Given the description of an element on the screen output the (x, y) to click on. 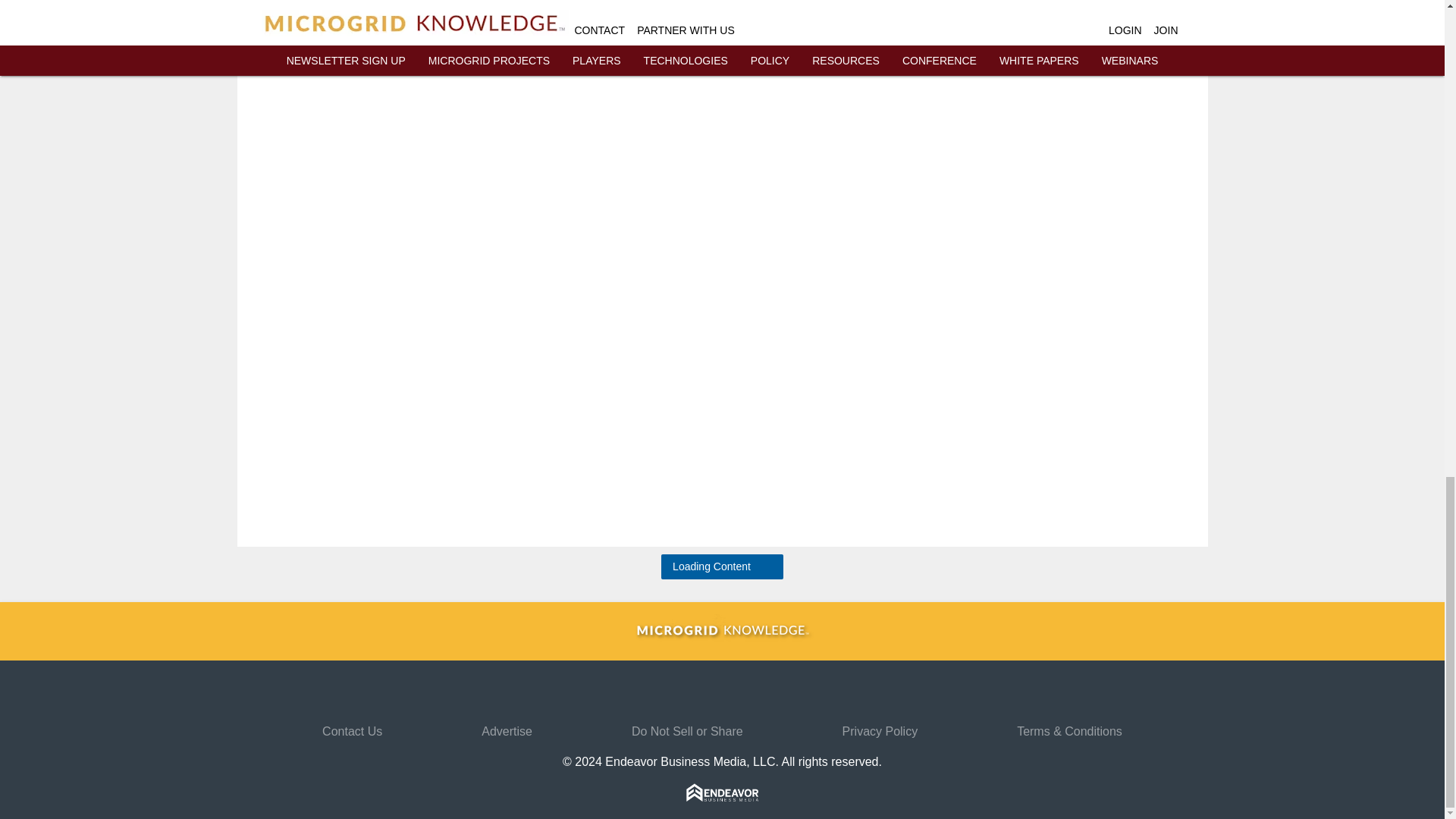
Making Money with Microgrids (946, 2)
